Given the description of an element on the screen output the (x, y) to click on. 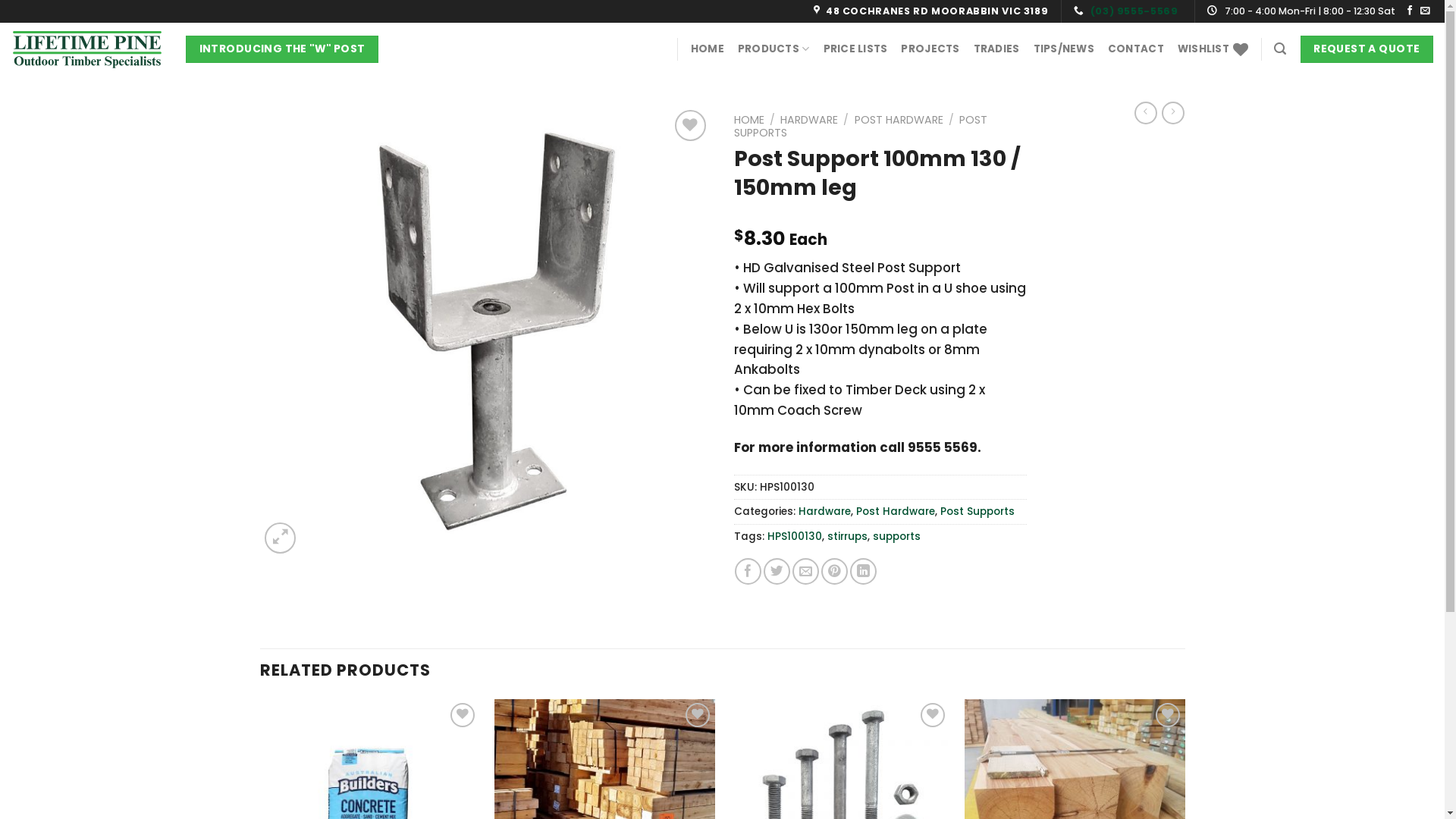
supports Element type: text (895, 536)
REQUEST A QUOTE Element type: text (1366, 48)
hwpost_hps100130 Element type: hover (484, 331)
Post Hardware Element type: text (894, 511)
Lifetime Pine - Outdoor Timber & Hardware Element type: hover (87, 49)
INTRODUCING THE "W" POST Element type: text (281, 48)
TIPS/NEWS Element type: text (1063, 48)
HOME Element type: text (707, 48)
HARDWARE Element type: text (808, 119)
Hardware Element type: text (823, 511)
PROJECTS Element type: text (929, 48)
POST HARDWARE Element type: text (898, 119)
Post Supports Element type: text (977, 511)
POST SUPPORTS Element type: text (861, 126)
PRODUCTS Element type: text (773, 48)
Skip to content Element type: text (0, 0)
WISHLIST Element type: text (1212, 48)
stirrups Element type: text (846, 536)
HOME Element type: text (749, 119)
TRADIES Element type: text (996, 48)
PRICE LISTS Element type: text (855, 48)
CONTACT Element type: text (1135, 48)
HPS100130 Element type: text (794, 536)
(03) 9555-5569 Element type: text (1134, 10)
